Given the description of an element on the screen output the (x, y) to click on. 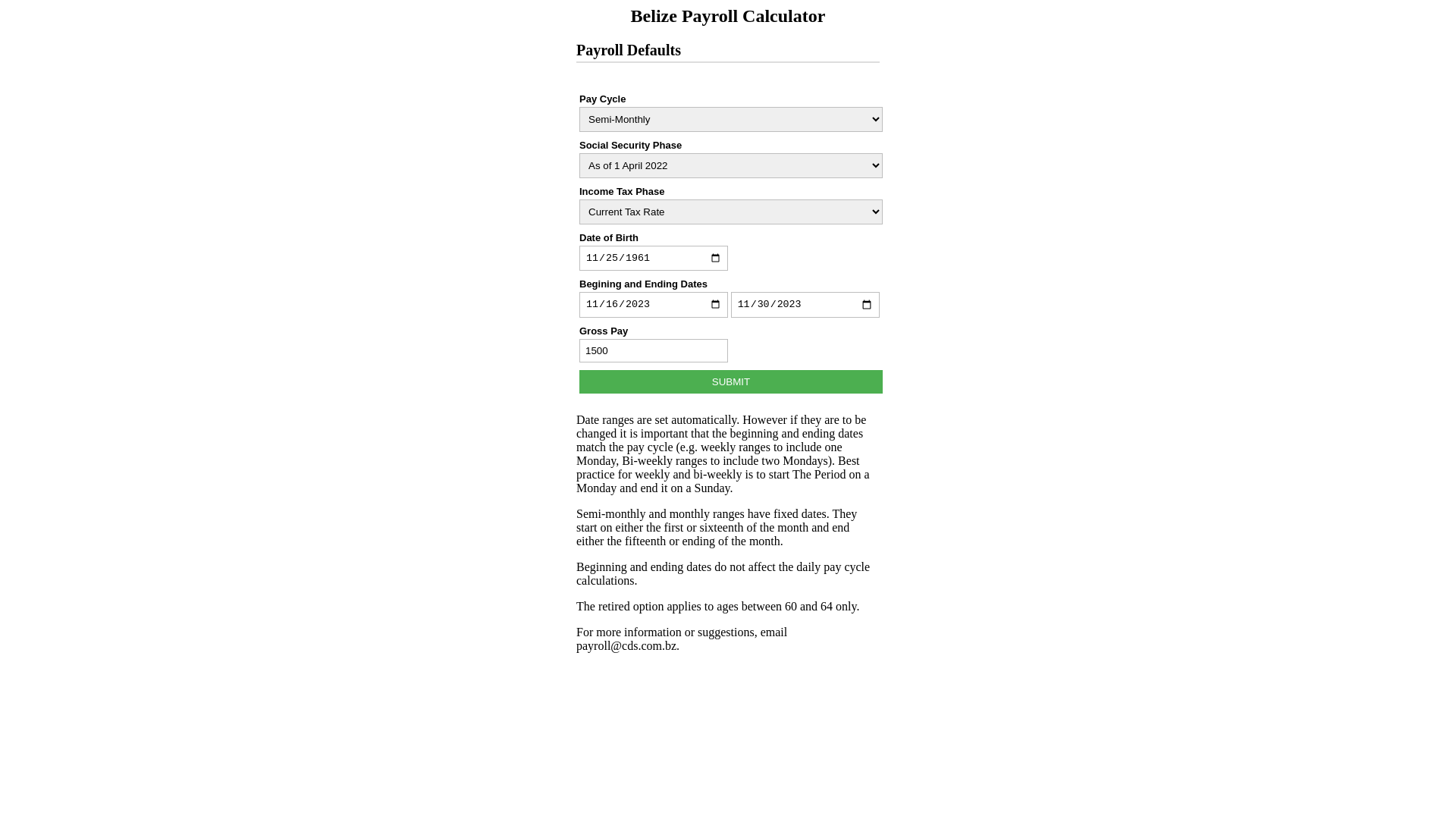
SUBMIT Element type: text (730, 381)
